Given the description of an element on the screen output the (x, y) to click on. 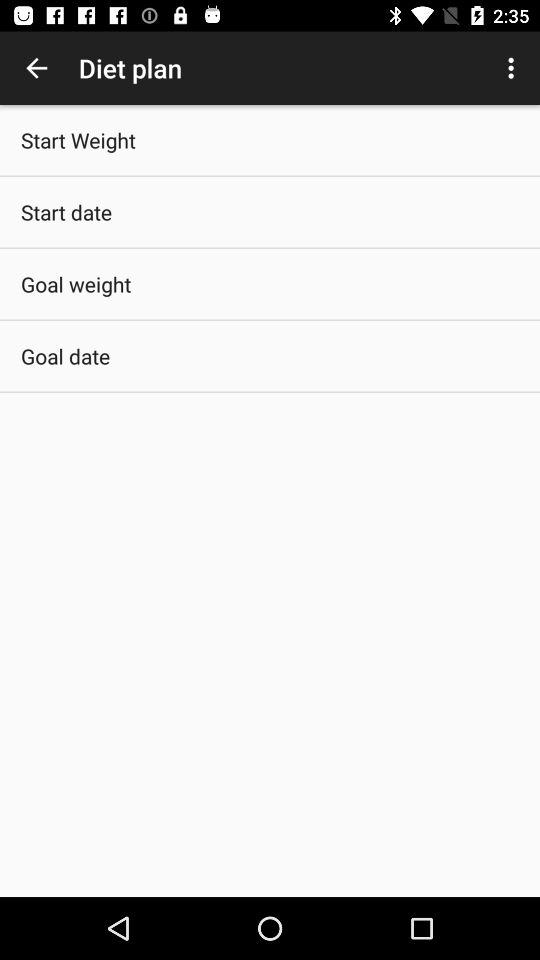
open start weight app (78, 139)
